Given the description of an element on the screen output the (x, y) to click on. 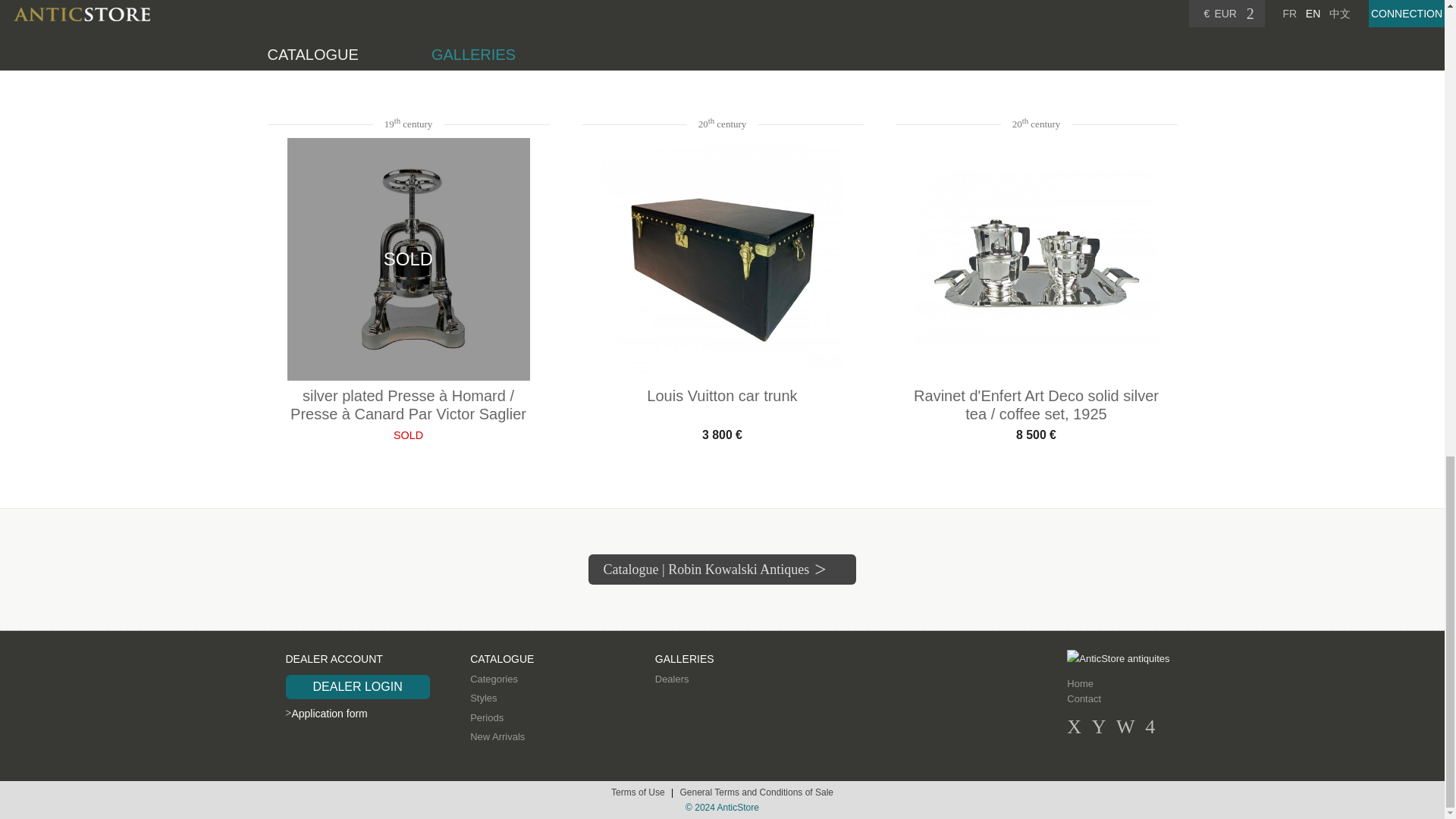
Periods (486, 717)
Art Nouveau Lamp, Bronze (1035, 30)
Home (1080, 683)
DEALER ACCOUNT (333, 658)
CATALOGUE (502, 658)
SOLD (1035, 4)
Dealers (671, 678)
Terms of Use (638, 792)
General Terms and Conditions of Sale (755, 792)
Application form (325, 713)
